Given the description of an element on the screen output the (x, y) to click on. 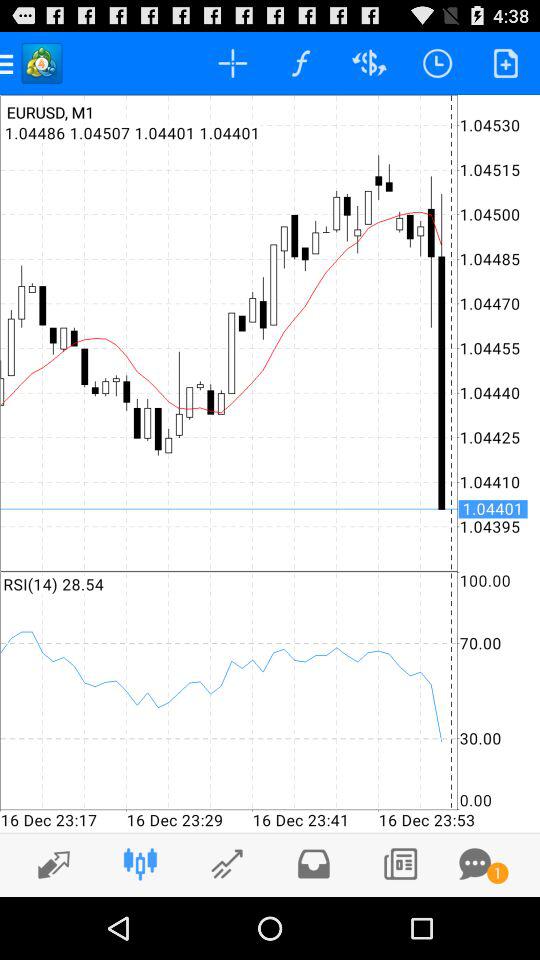
show trend (48, 864)
